Given the description of an element on the screen output the (x, y) to click on. 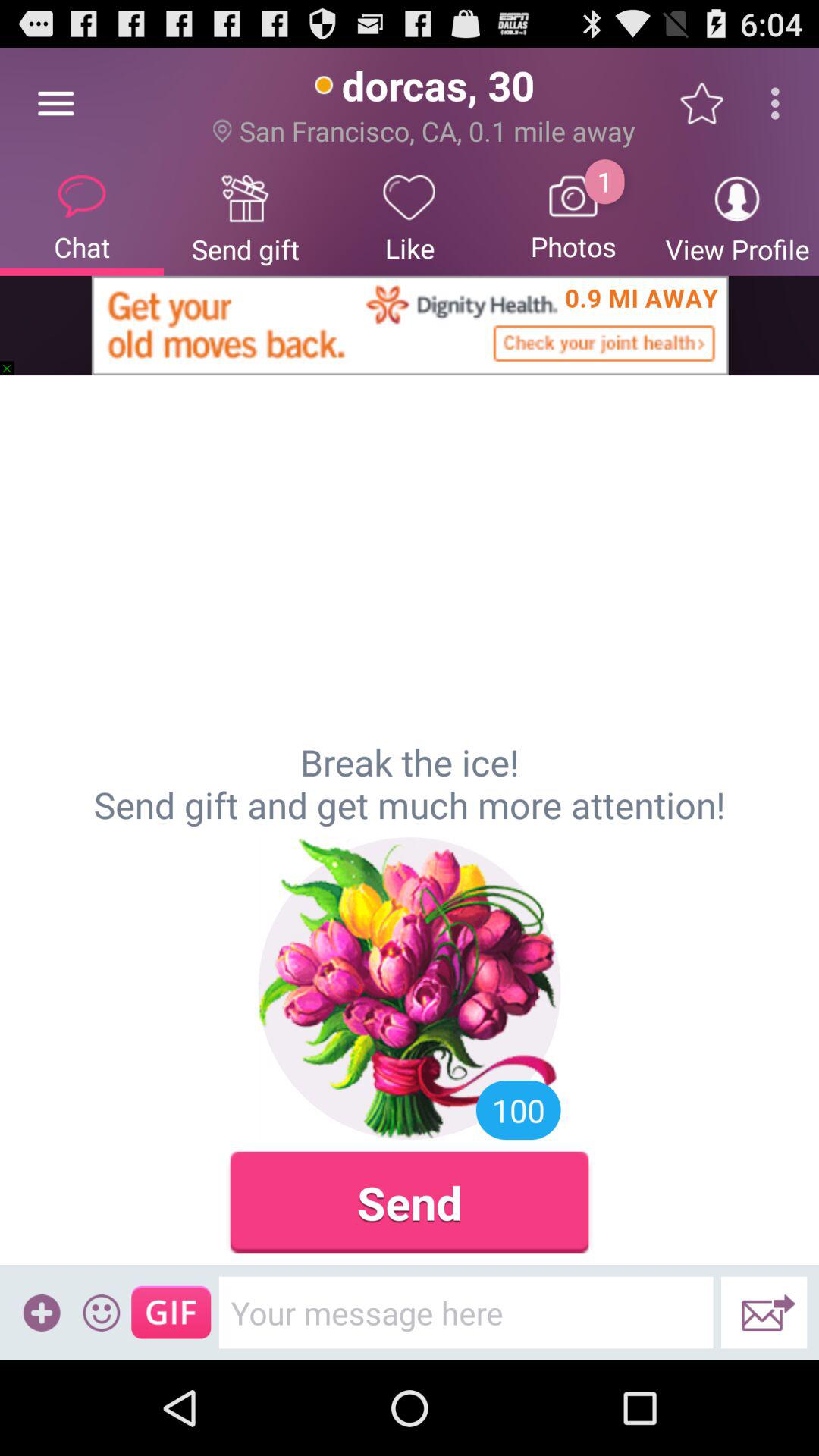
choose the item below the san francisco ca (409, 217)
